Given the description of an element on the screen output the (x, y) to click on. 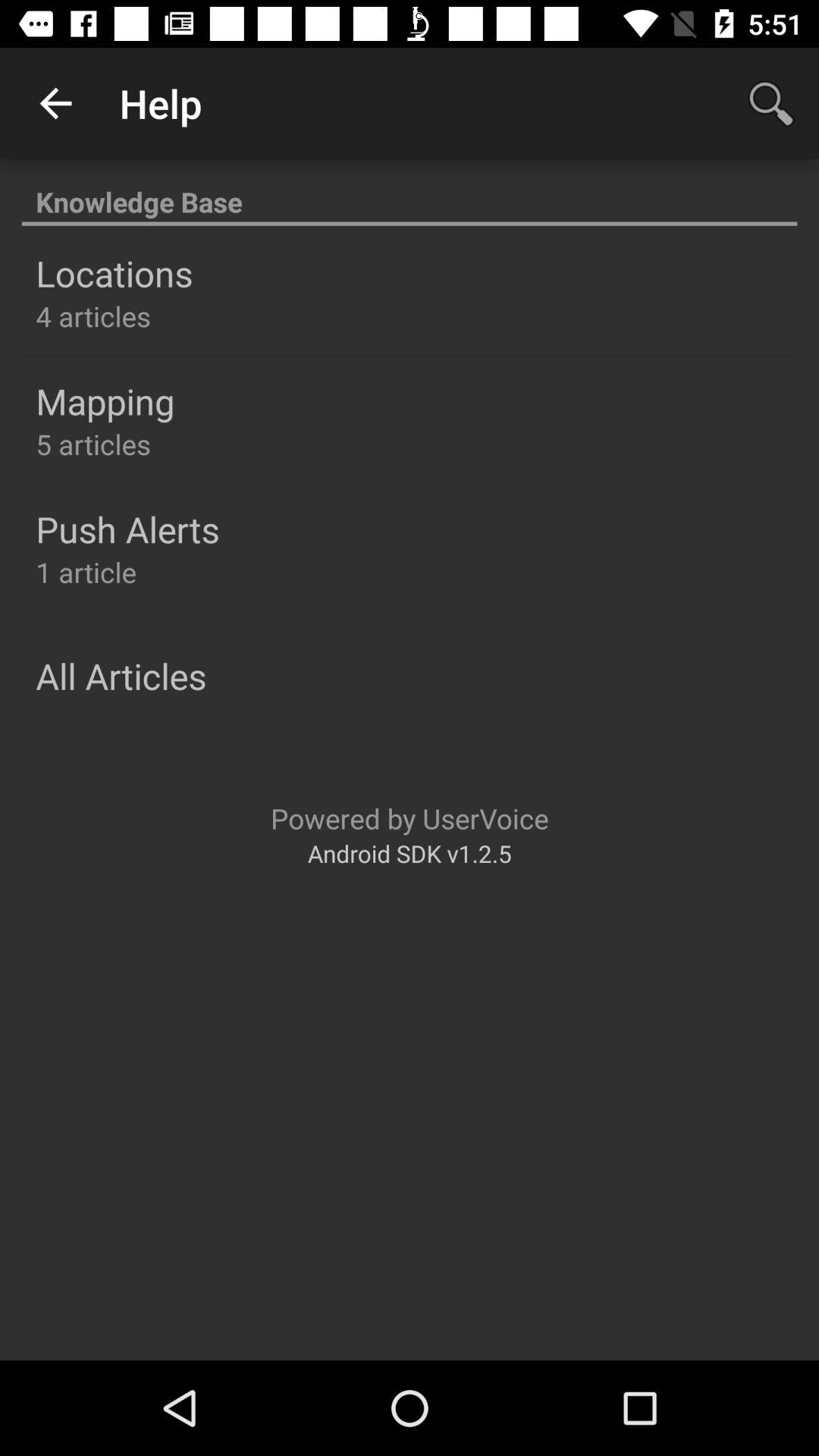
turn off icon to the left of the help icon (55, 103)
